Given the description of an element on the screen output the (x, y) to click on. 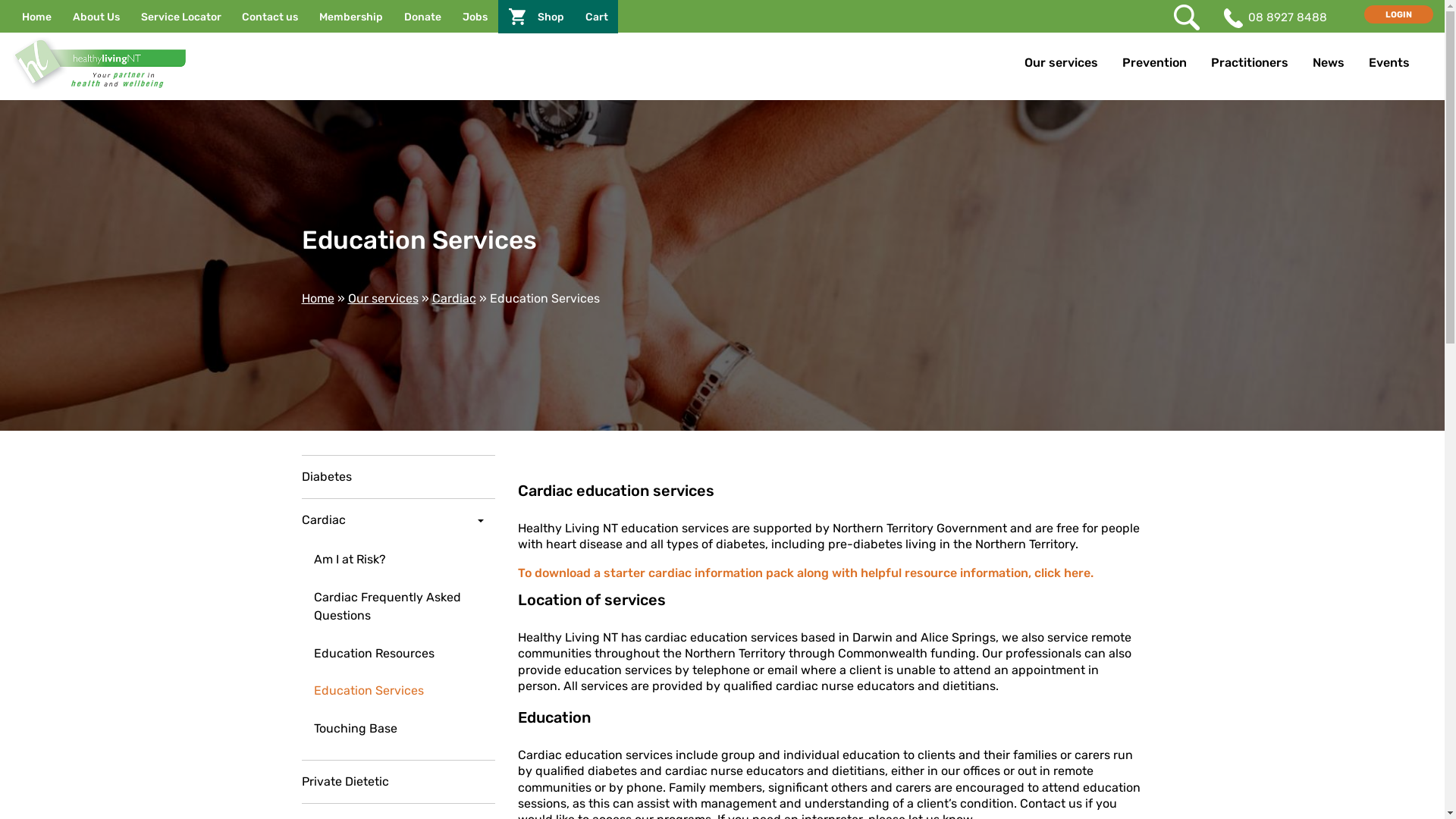
Jobs Element type: text (474, 16)
Cardiac Element type: text (398, 519)
Home Element type: hover (180, 63)
Our services Element type: text (1061, 62)
News Element type: text (1328, 62)
Events Element type: text (1388, 62)
Touching Base Element type: text (398, 728)
08 8927 8488 Element type: text (1287, 17)
Contact us Element type: text (269, 16)
Practitioners Element type: text (1249, 62)
Skip to main content Element type: text (0, 0)
Prevention Element type: text (1154, 62)
Cardiac Element type: text (454, 298)
Home Element type: text (36, 16)
Education Services Element type: text (398, 690)
Private Dietetic Element type: text (398, 781)
Donate Element type: text (422, 16)
Membership Element type: text (350, 16)
Shop Element type: text (536, 16)
Education Resources Element type: text (398, 653)
Search Element type: text (25, 11)
Service Locator Element type: text (181, 16)
Cart Element type: text (596, 16)
Our services Element type: text (382, 298)
LOGIN Element type: text (1398, 14)
Am I at Risk? Element type: text (398, 560)
About Us Element type: text (96, 16)
Home Element type: text (317, 298)
Diabetes Element type: text (398, 476)
Cardiac Frequently Asked Questions Element type: text (398, 606)
